Given the description of an element on the screen output the (x, y) to click on. 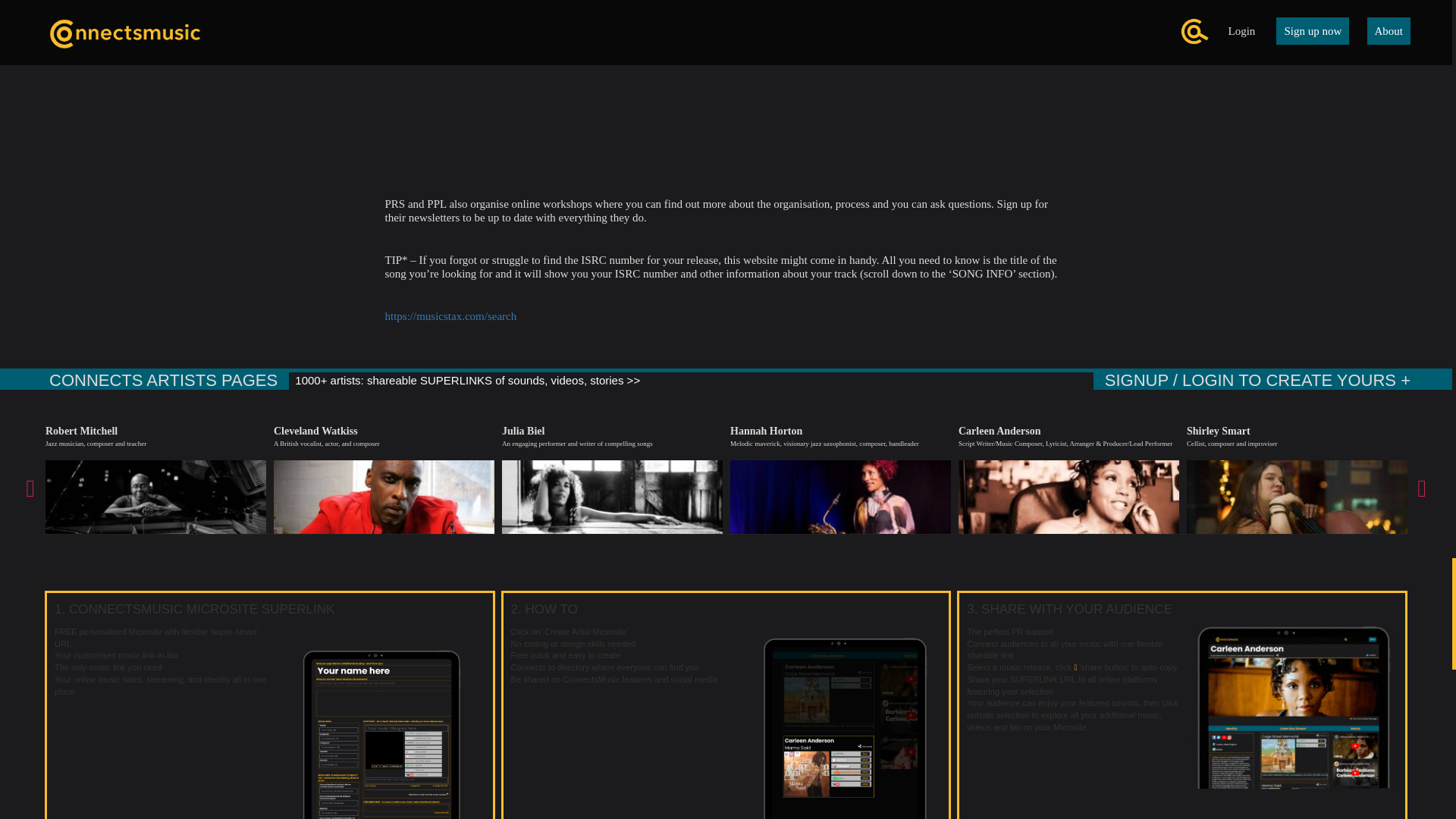
CONNECTS ARTISTS PAGES (144, 380)
Previous (30, 483)
How to register repertoire with PPL: Manage Repertoire (726, 82)
